Given the description of an element on the screen output the (x, y) to click on. 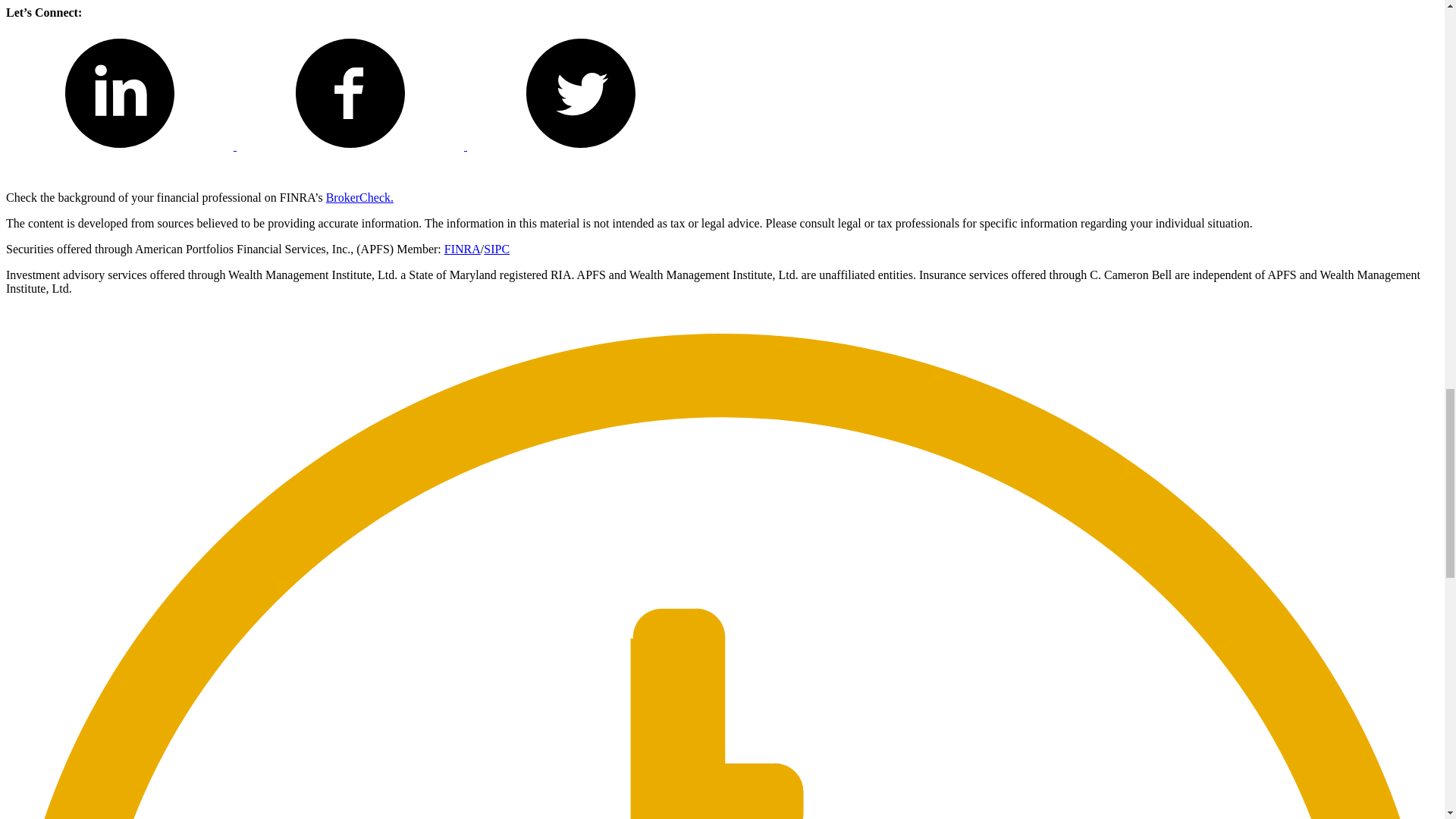
FINRA (462, 248)
BrokerCheck. (359, 196)
SIPC (496, 248)
